Given the description of an element on the screen output the (x, y) to click on. 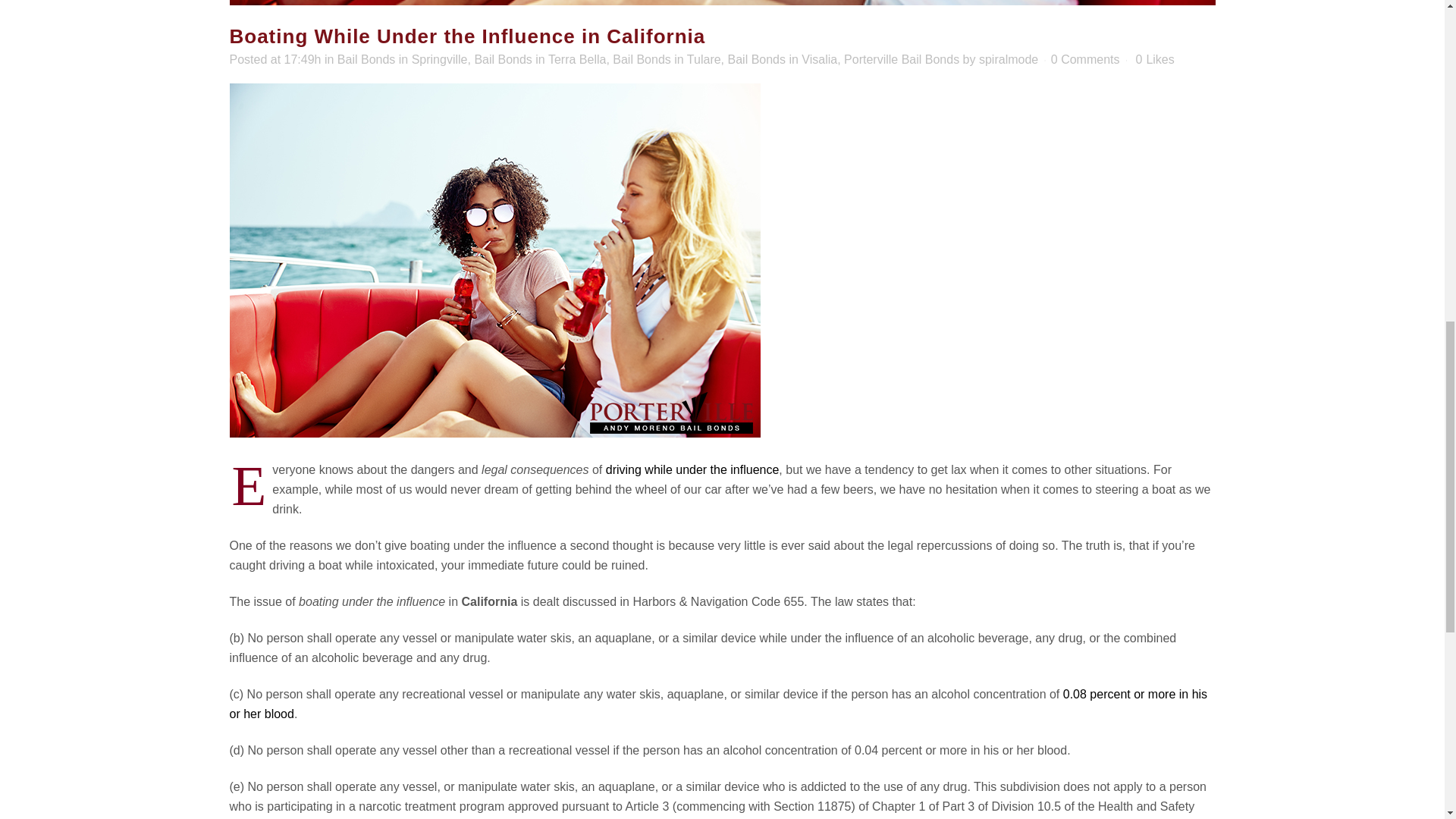
The Dangers of Drunk Driving (691, 469)
Porterville Bail Bonds (901, 59)
0.08 percent or more in his or her blood (717, 703)
Like this (1154, 59)
Bail Bonds in Visalia (783, 59)
driving while under the influence (691, 469)
How Much is 1 Serving of Alcohol? (717, 703)
0 Comments (1085, 59)
Bail Bonds in Tulare (666, 59)
0 Likes (1154, 59)
Bail Bonds in Springville (402, 59)
spiralmode (1008, 59)
Bail Bonds in Terra Bella (539, 59)
